Given the description of an element on the screen output the (x, y) to click on. 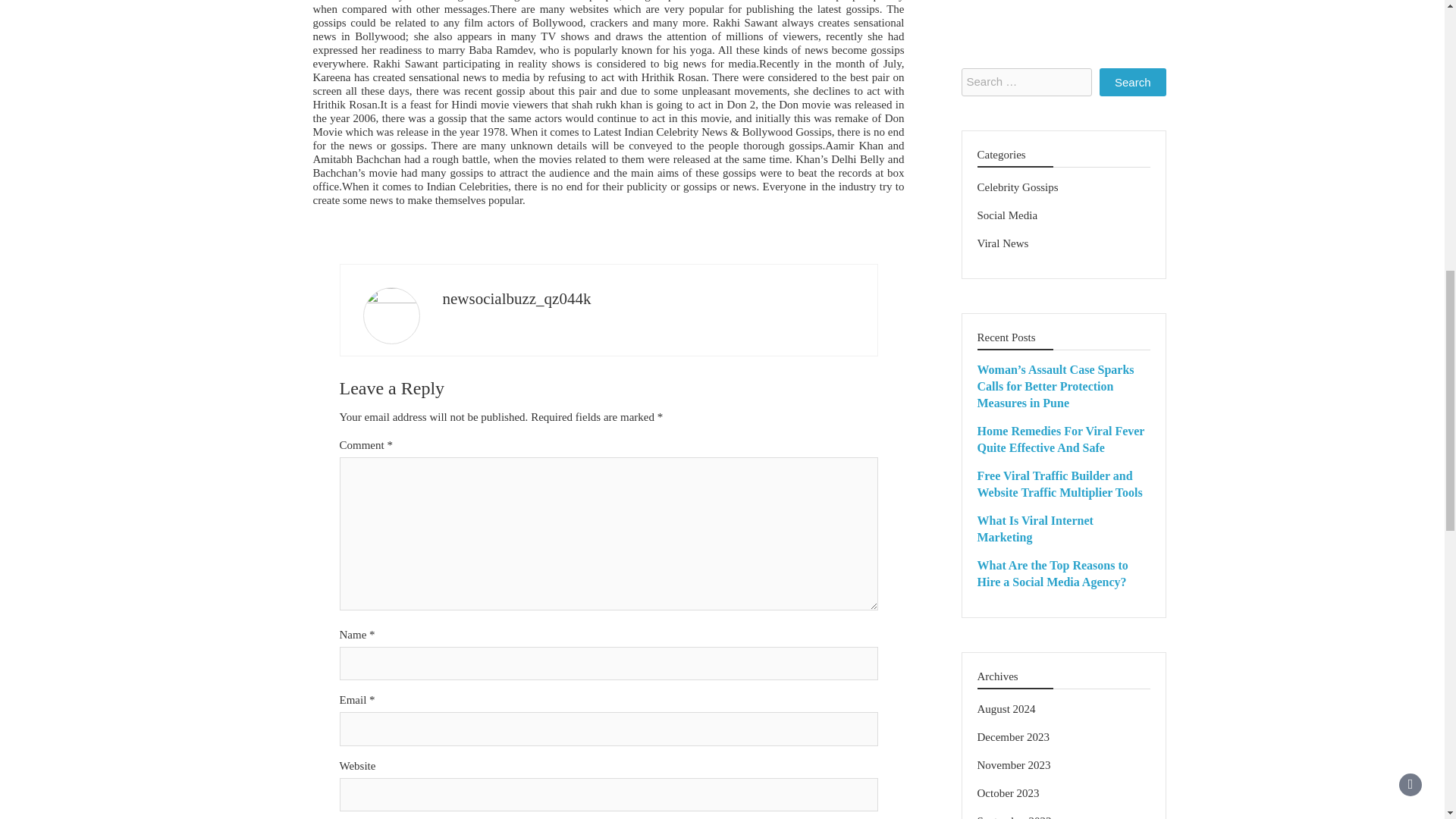
Thursday (1063, 401)
Sunday (1137, 401)
December 2023 (1012, 53)
Friday (1087, 401)
August 2024 (1005, 25)
Wednesday (1038, 401)
Saturday (1112, 401)
Monday (988, 401)
Tuesday (1013, 401)
